Given the description of an element on the screen output the (x, y) to click on. 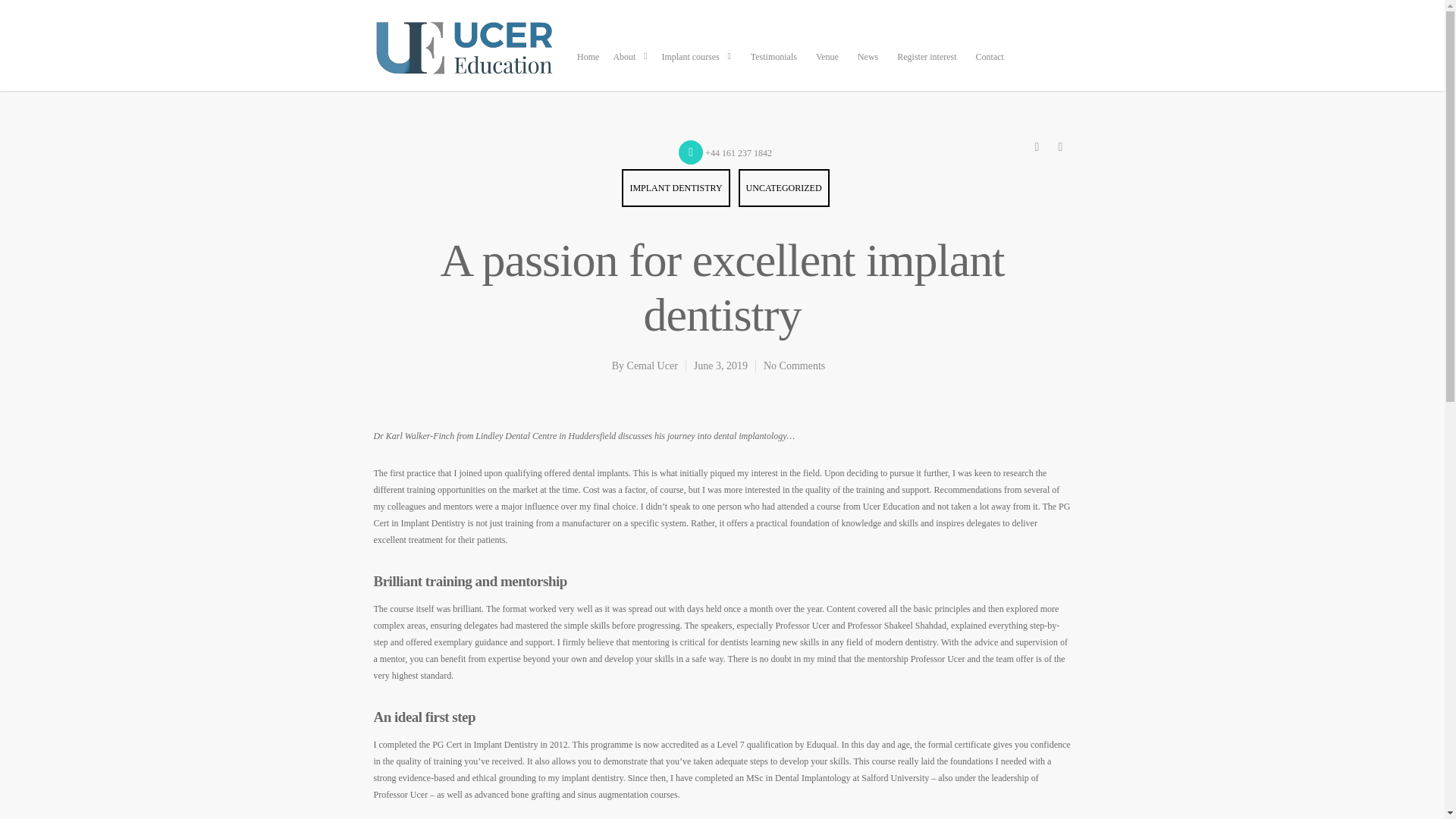
Cookie policy (580, 778)
UNCATEGORIZED (783, 187)
No Comments (793, 365)
Privacy policy (506, 786)
Posts by Cemal Ucer (652, 365)
IMPLANT DENTISTRY (675, 187)
Cemal Ucer (652, 365)
